Given the description of an element on the screen output the (x, y) to click on. 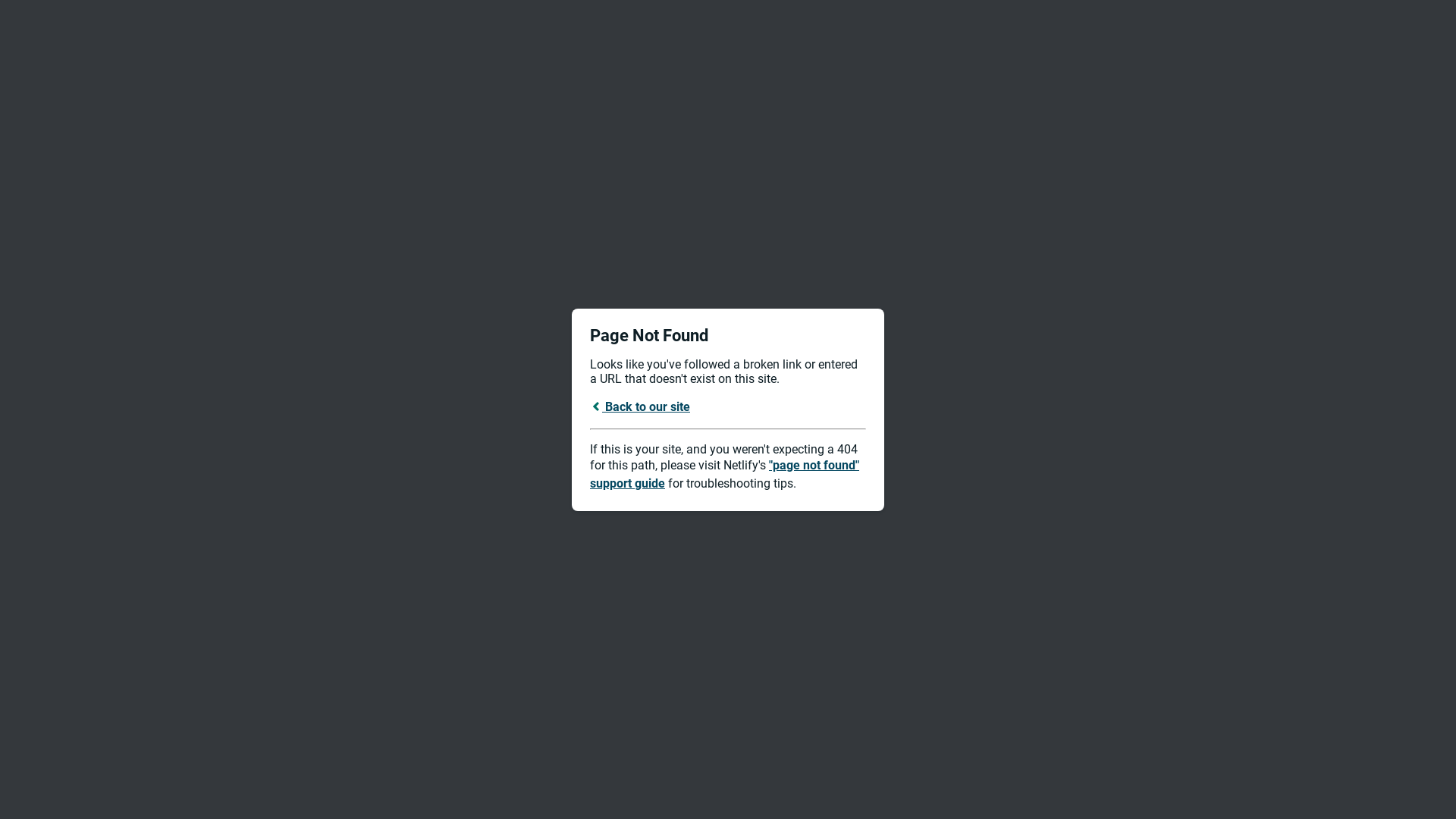
"page not found" support guide Element type: text (724, 474)
Back to our site Element type: text (639, 405)
